Given the description of an element on the screen output the (x, y) to click on. 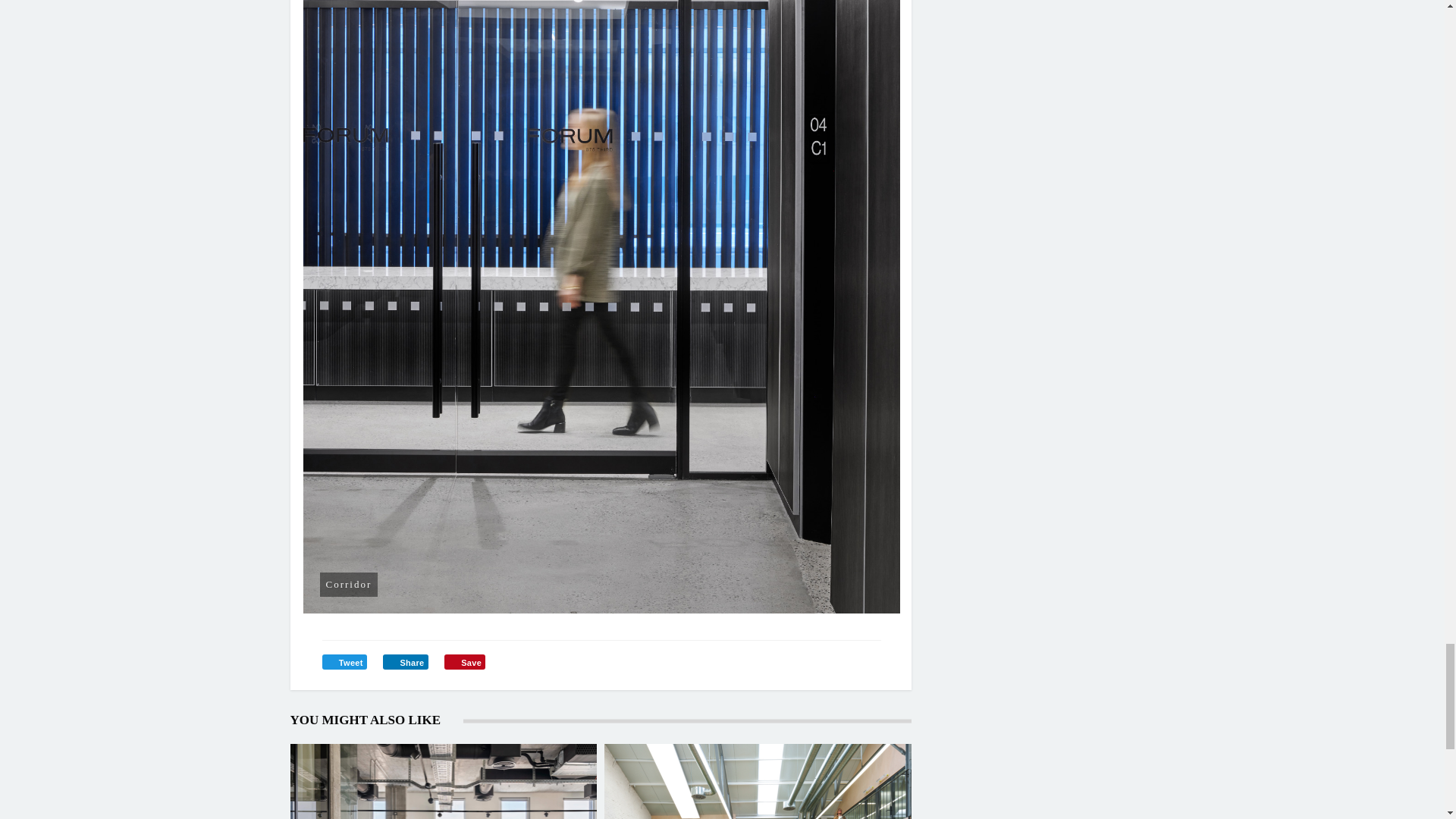
Share link on LinkedIn (405, 661)
Share link on Twitter (343, 661)
